Given the description of an element on the screen output the (x, y) to click on. 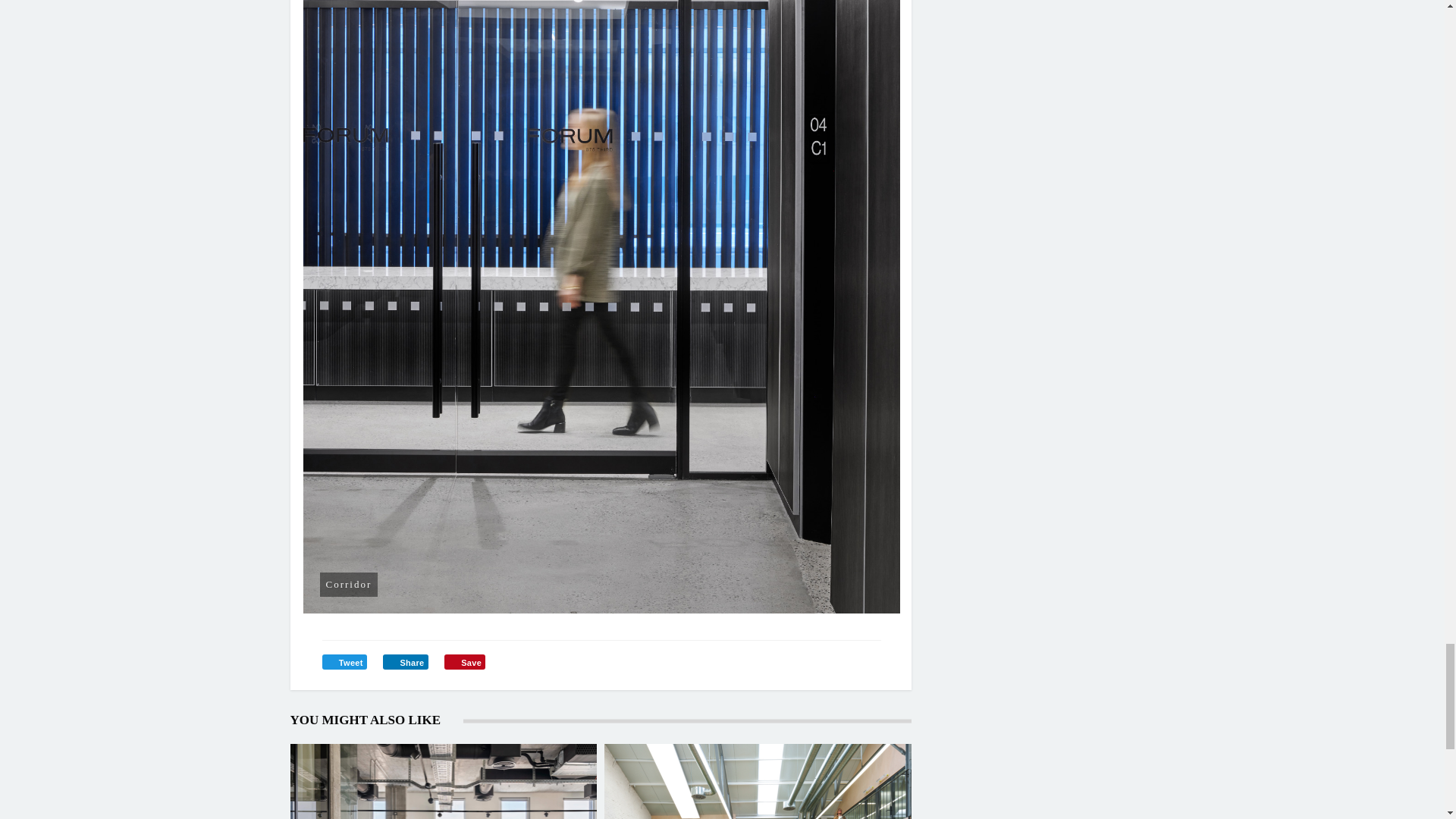
Share link on LinkedIn (405, 661)
Share link on Twitter (343, 661)
